Given the description of an element on the screen output the (x, y) to click on. 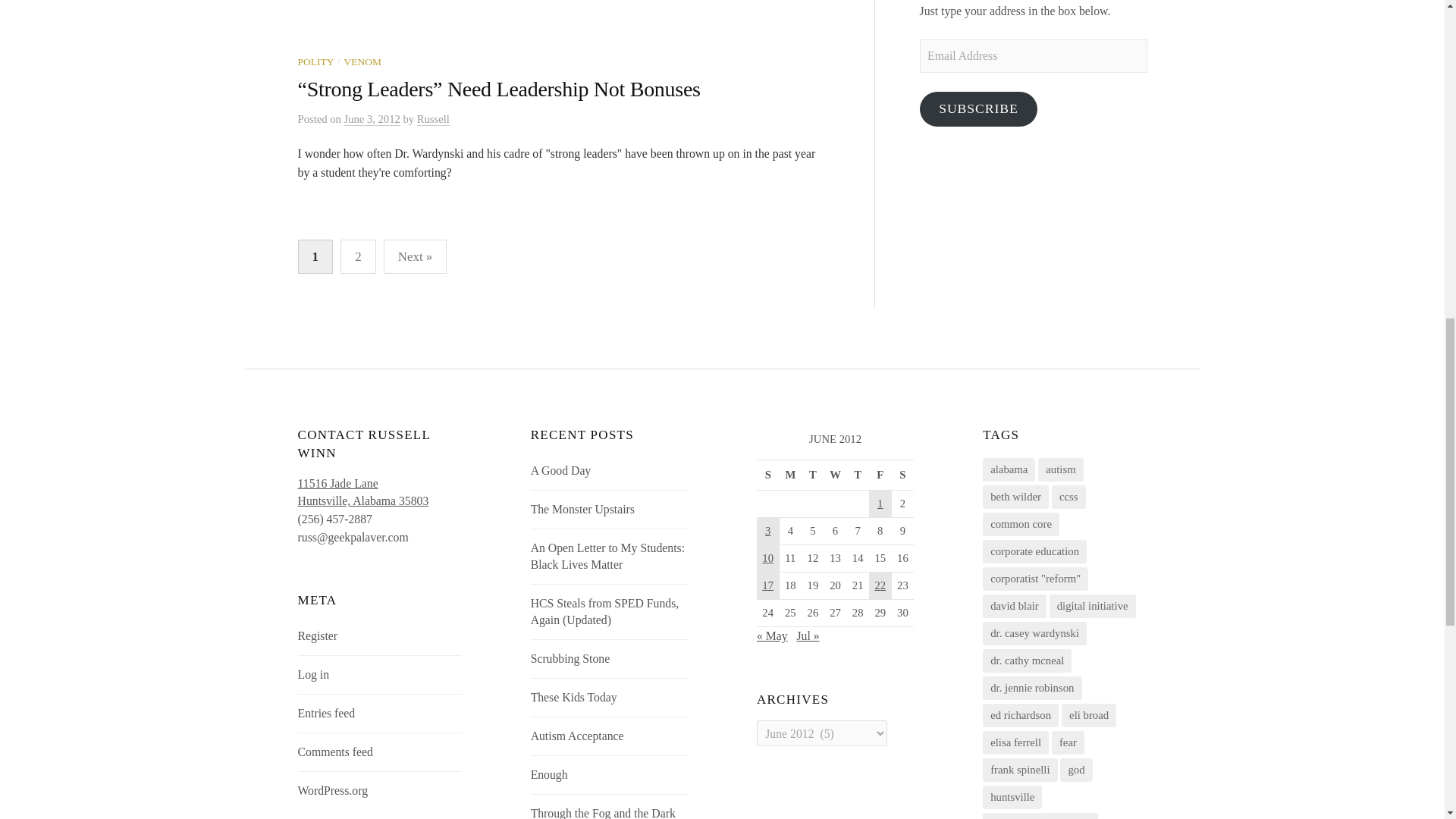
Entries feed (326, 712)
Log in (314, 674)
An Open Letter to My Students: Black Lives Matter (607, 555)
Russell (432, 119)
Register (317, 635)
Comments feed (335, 751)
POLITY (315, 61)
A Good Day (561, 470)
Thursday (857, 474)
SUBSCRIBE (979, 108)
2 (357, 256)
VENOM (363, 491)
Wednesday (362, 61)
Saturday (835, 474)
